Given the description of an element on the screen output the (x, y) to click on. 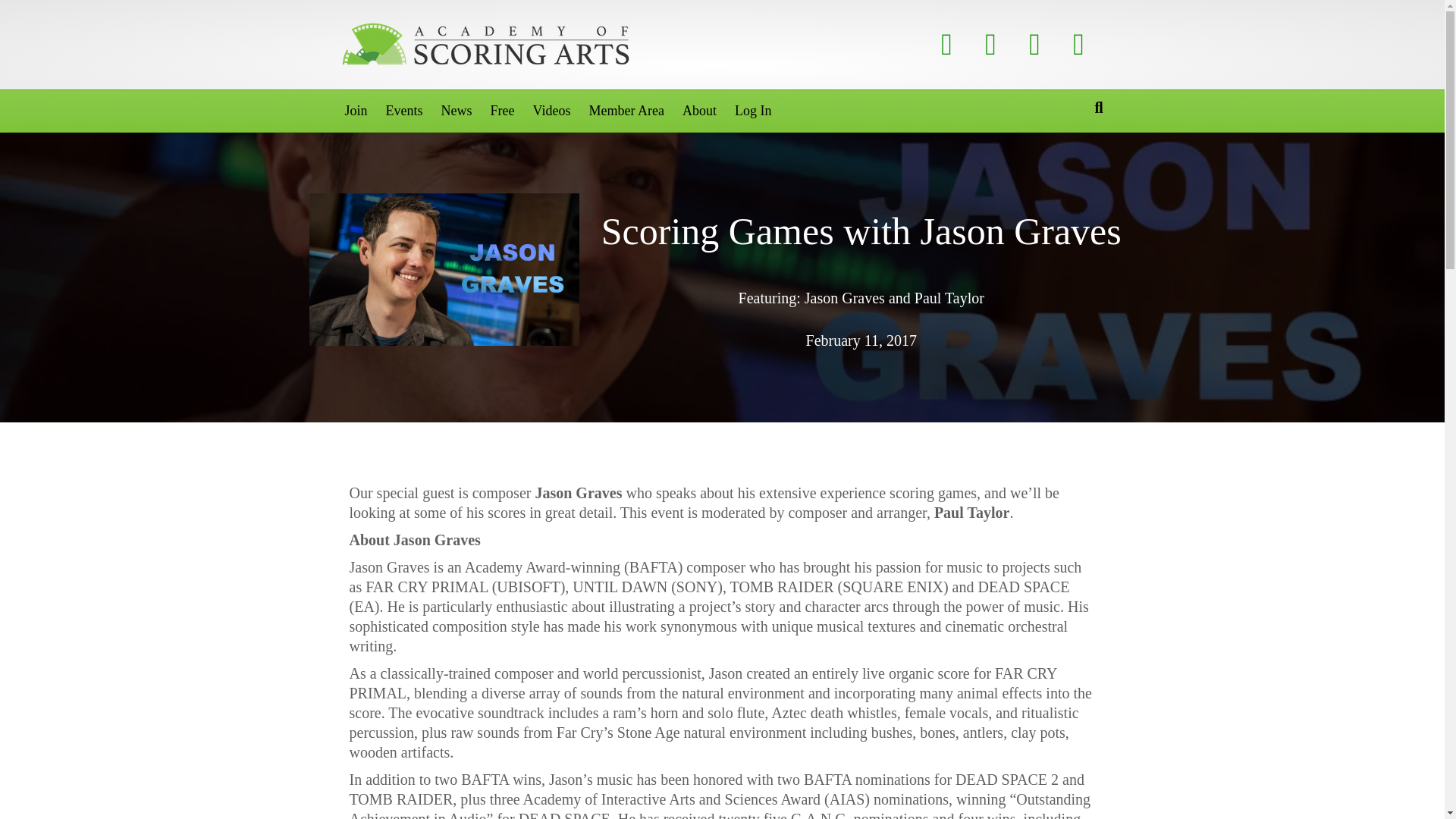
Youtube (1035, 44)
Free (502, 110)
Videos (550, 110)
Events (404, 110)
Jason Graves (443, 269)
About (698, 110)
Instagram (1078, 44)
Twitter (991, 44)
Join (354, 110)
News (456, 110)
